Given the description of an element on the screen output the (x, y) to click on. 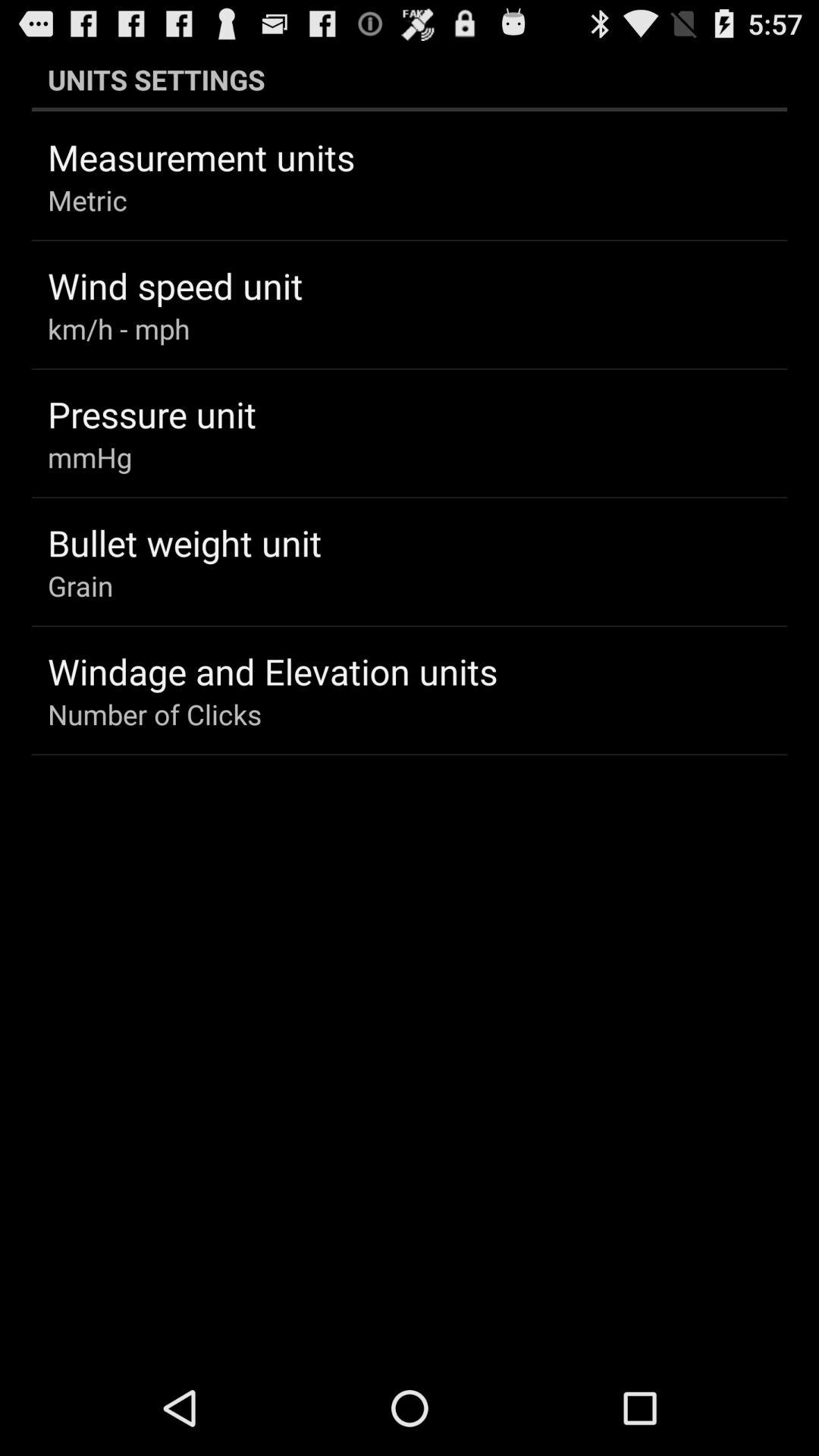
turn off the icon below mmhg app (184, 542)
